Given the description of an element on the screen output the (x, y) to click on. 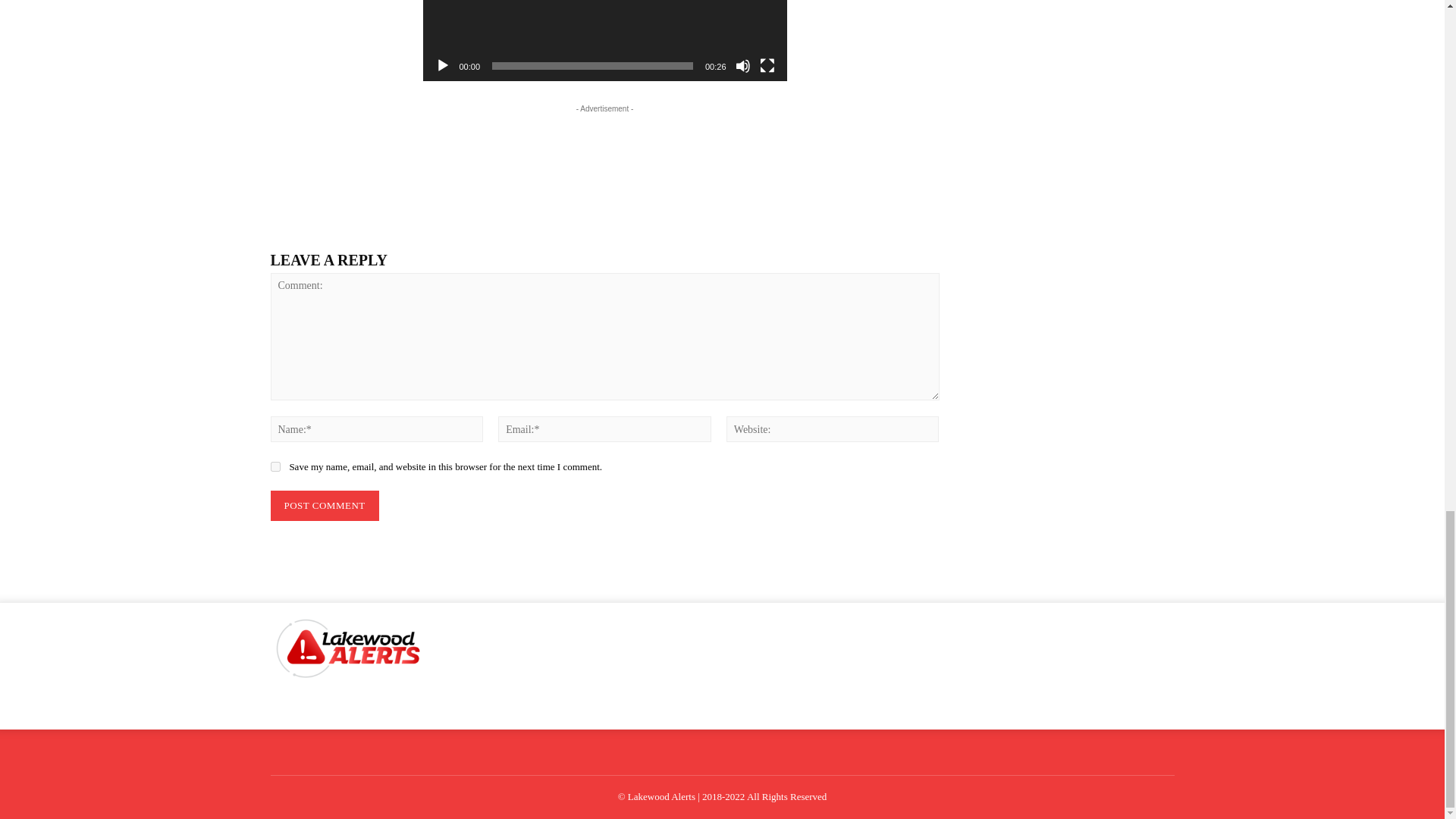
Play (442, 65)
Post Comment (323, 505)
yes (274, 466)
